Given the description of an element on the screen output the (x, y) to click on. 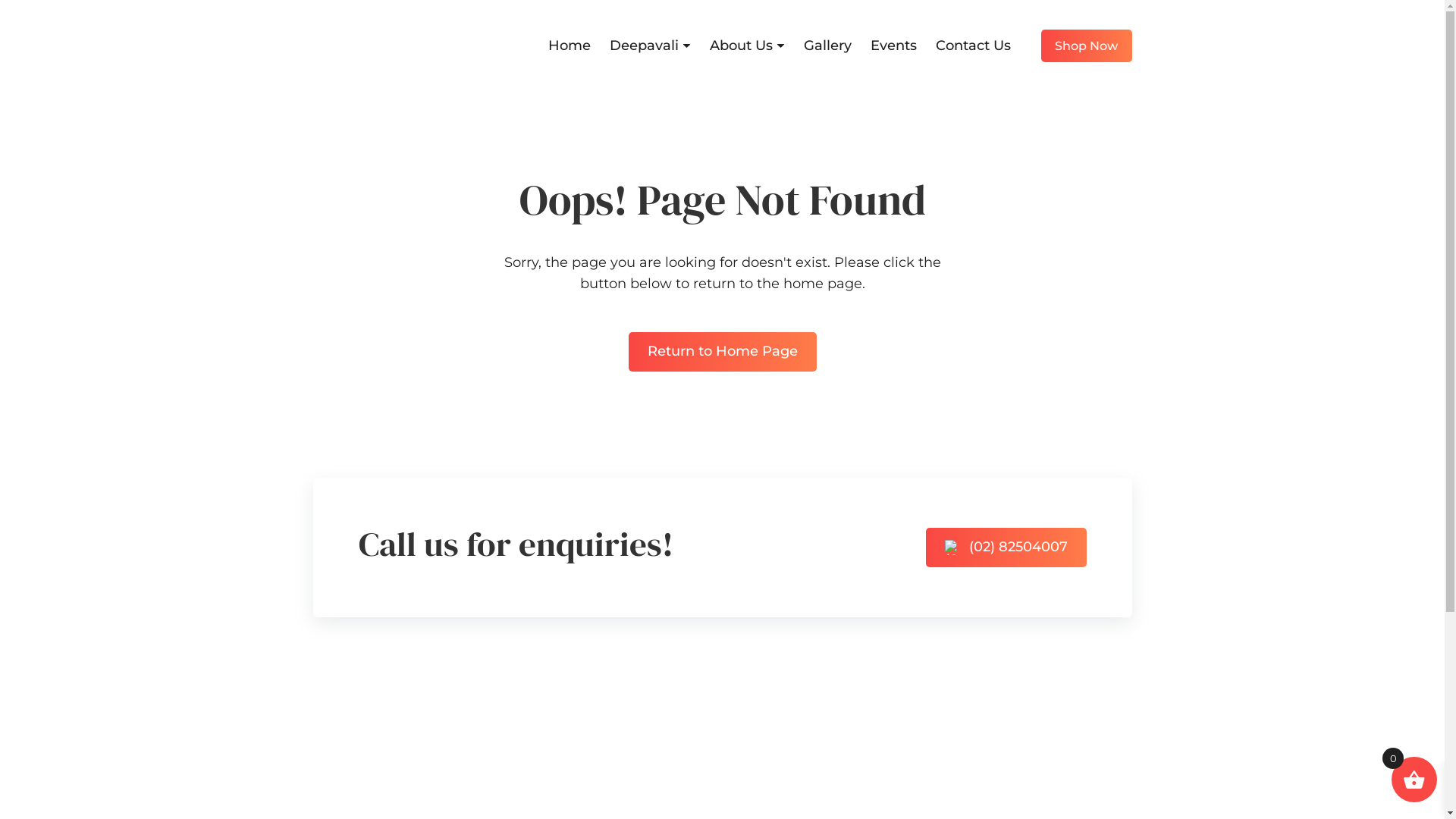
Contact Us Element type: text (972, 45)
Shop Element type: text (754, 744)
Events Element type: text (893, 45)
Return to Home Page Element type: text (721, 351)
Checkout Element type: text (768, 800)
Suite 1, 168 A Burwood Road, Burwood 2134 Element type: text (1044, 779)
(02) 82504007 Element type: text (1005, 547)
Deepavali Element type: text (592, 772)
Gallery Element type: text (827, 45)
Shop Now Element type: text (1085, 45)
About Us Element type: text (746, 45)
Home Element type: text (581, 744)
Cart Element type: text (751, 772)
About Us Element type: text (590, 800)
Home Element type: text (568, 45)
Deepavali Element type: text (649, 45)
